Given the description of an element on the screen output the (x, y) to click on. 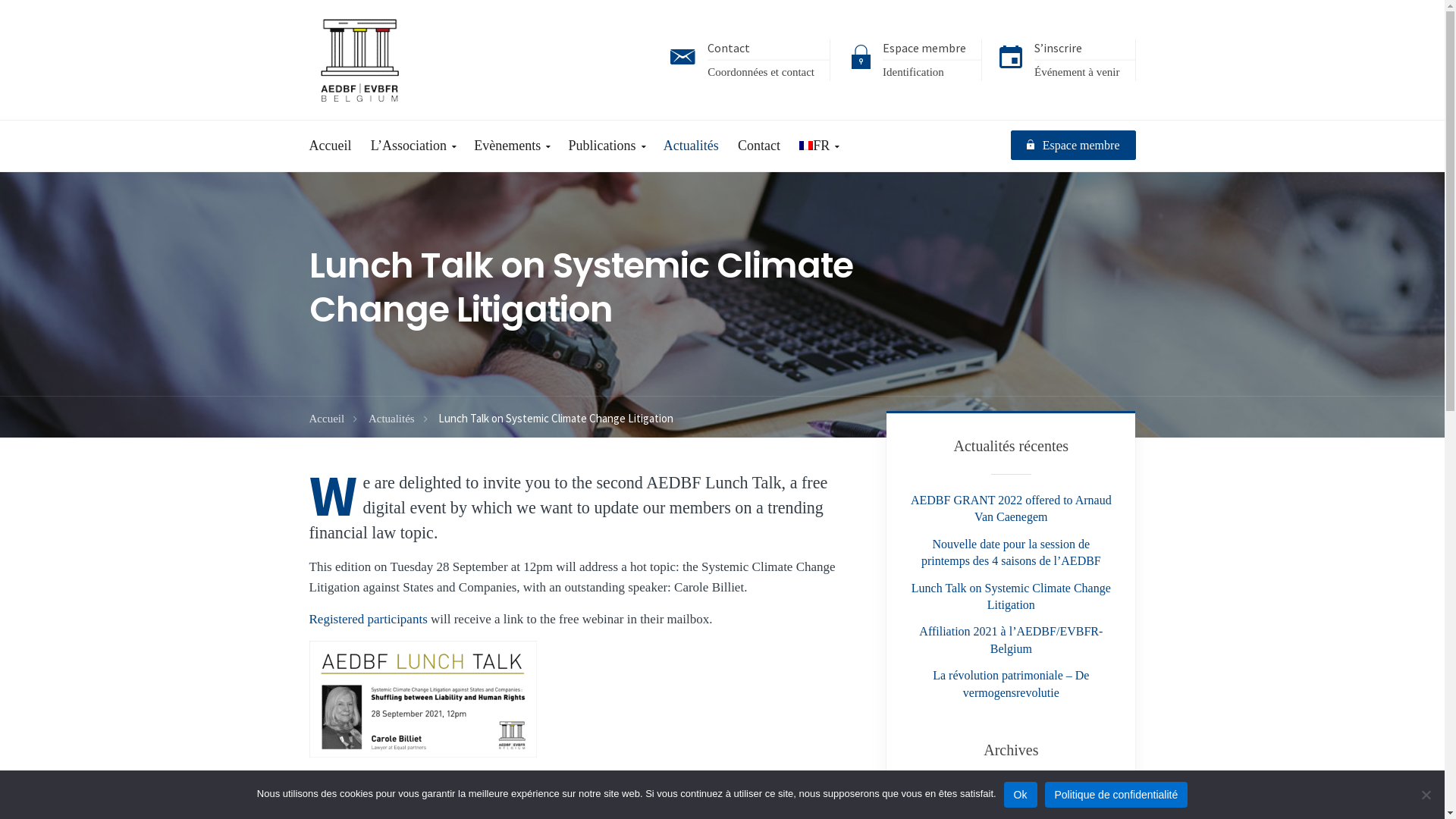
Publications Element type: text (606, 145)
Accueil Element type: text (335, 145)
mai 2022 Element type: text (1010, 803)
Non Element type: hover (1425, 794)
AEDBF GRANT 2022 offered to Arnaud Van Caenegem Element type: text (1010, 508)
Identification Element type: text (913, 71)
Lunch Talk on Systemic Climate Change Litigation Element type: text (1010, 596)
FR Element type: text (818, 145)
Espace membre Element type: text (1072, 145)
Accueil Element type: text (333, 418)
Ok Element type: text (1020, 794)
Contact Element type: text (759, 145)
Registered participants Element type: text (368, 618)
